Given the description of an element on the screen output the (x, y) to click on. 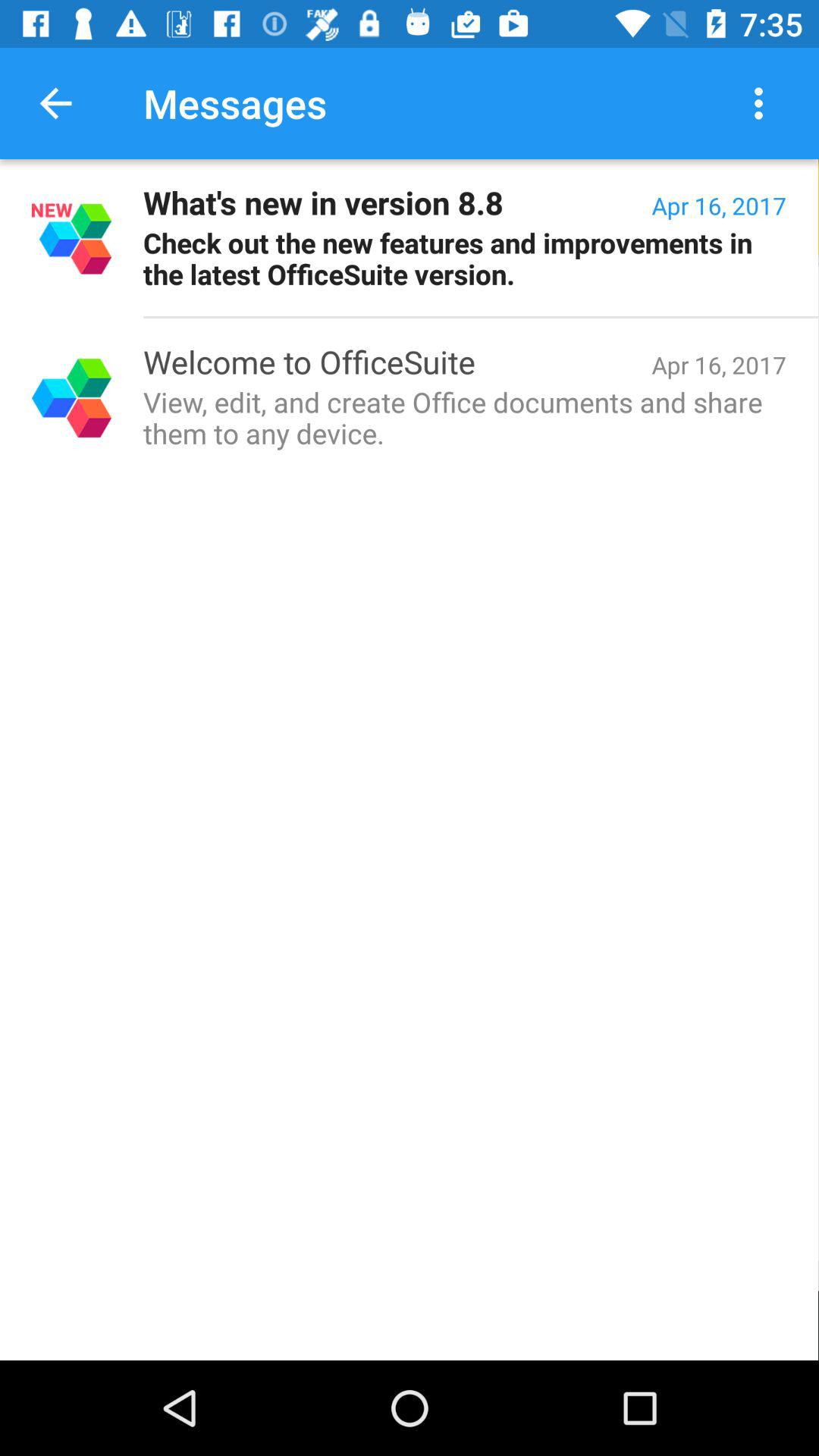
launch the item to the right of the messages app (762, 103)
